Given the description of an element on the screen output the (x, y) to click on. 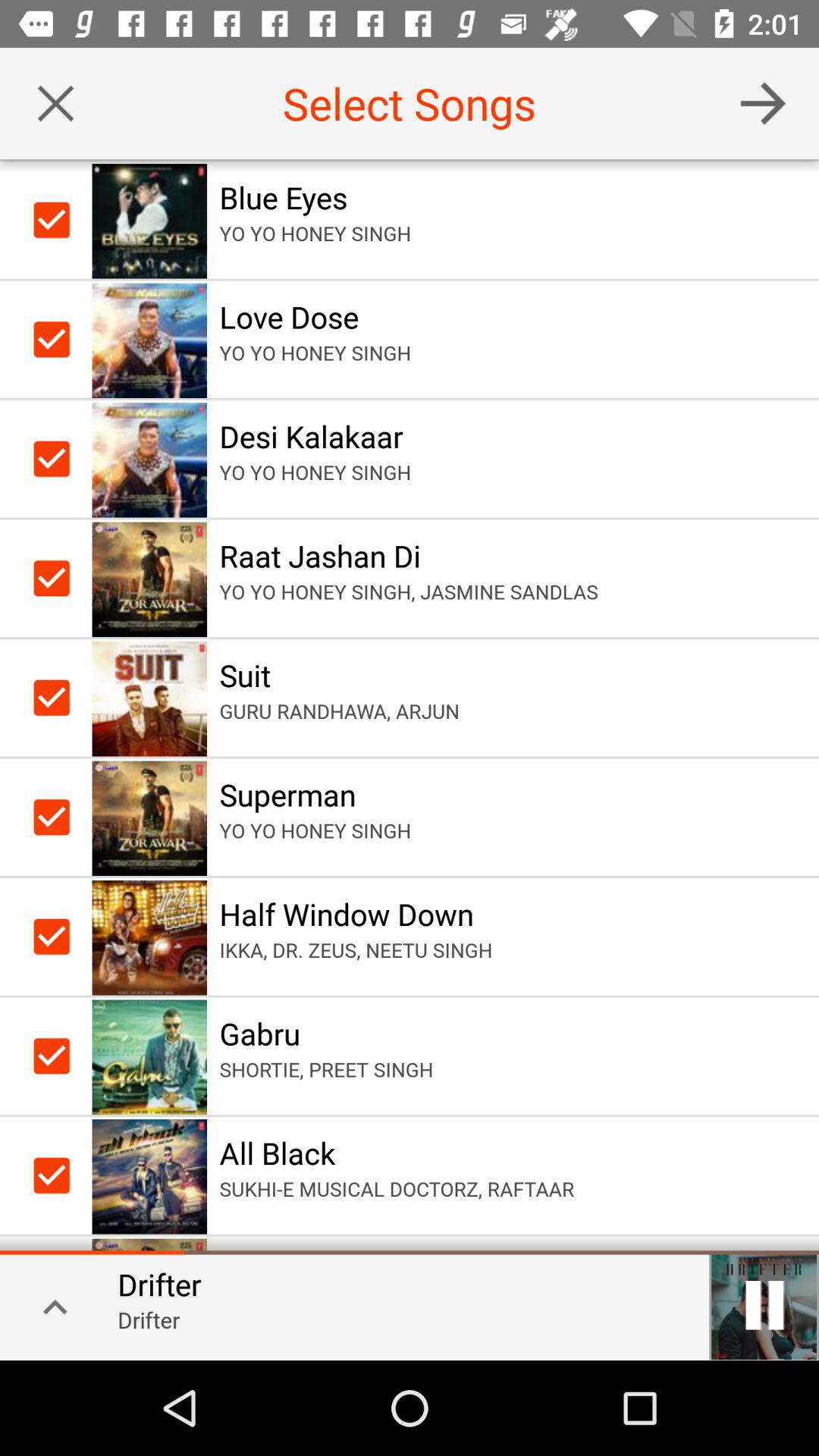
click on the last image (149, 1175)
select the image of superman (149, 817)
select the image beside gabru (149, 1056)
click on button which on left to image (54, 339)
